Given the description of an element on the screen output the (x, y) to click on. 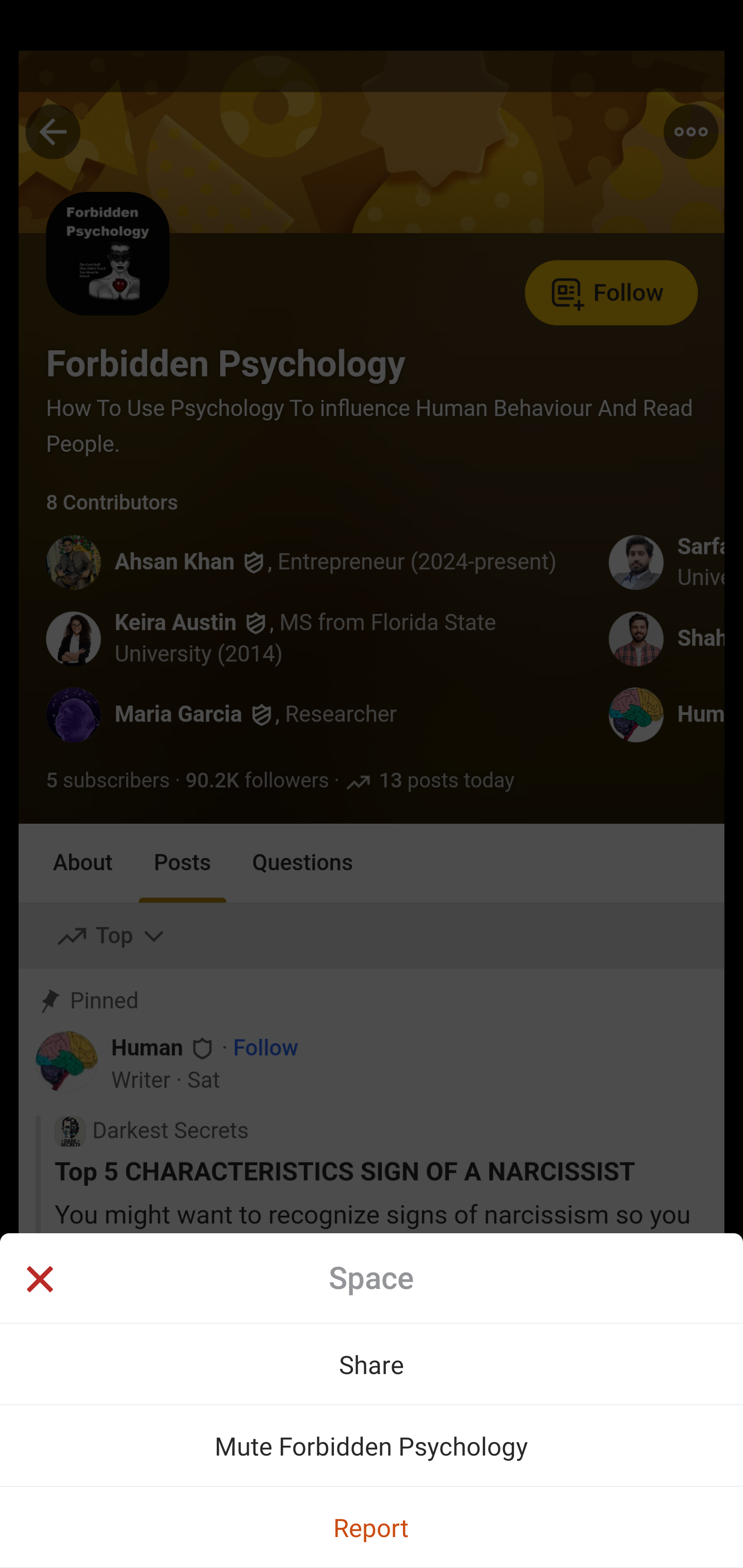
 Space (371, 1278)
 (39, 1280)
Share (371, 1363)
Mute Forbidden Psychology (371, 1445)
Report (371, 1527)
